Given the description of an element on the screen output the (x, y) to click on. 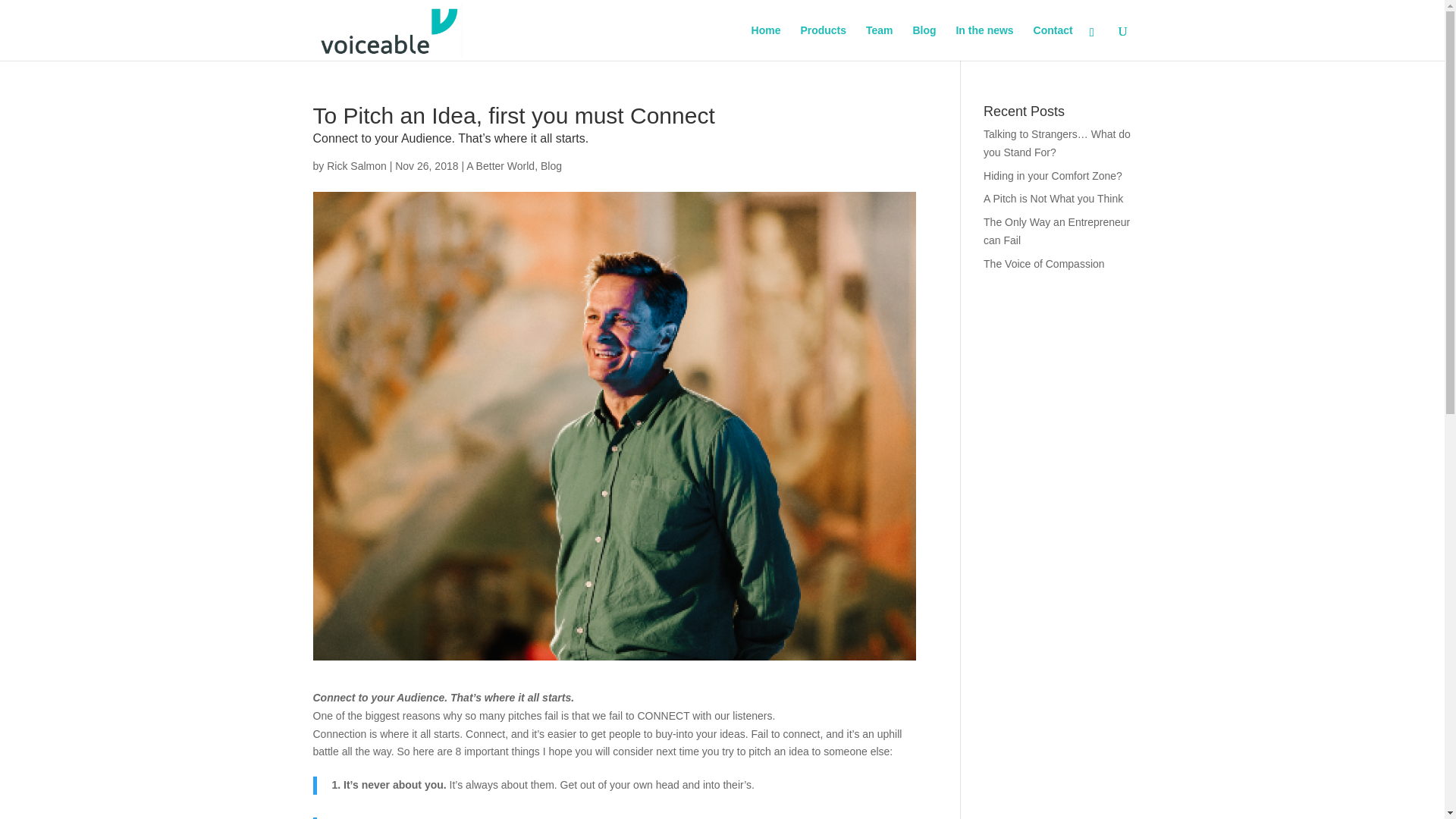
Contact (1053, 42)
Posts by Rick Salmon (356, 165)
The Voice of Compassion (1044, 263)
A Better World (499, 165)
A Pitch is Not What you Think (1053, 198)
Hiding in your Comfort Zone? (1053, 175)
Rick Salmon (356, 165)
Blog (551, 165)
In the news (984, 42)
The Only Way an Entrepreneur can Fail (1056, 231)
Products (822, 42)
